Given the description of an element on the screen output the (x, y) to click on. 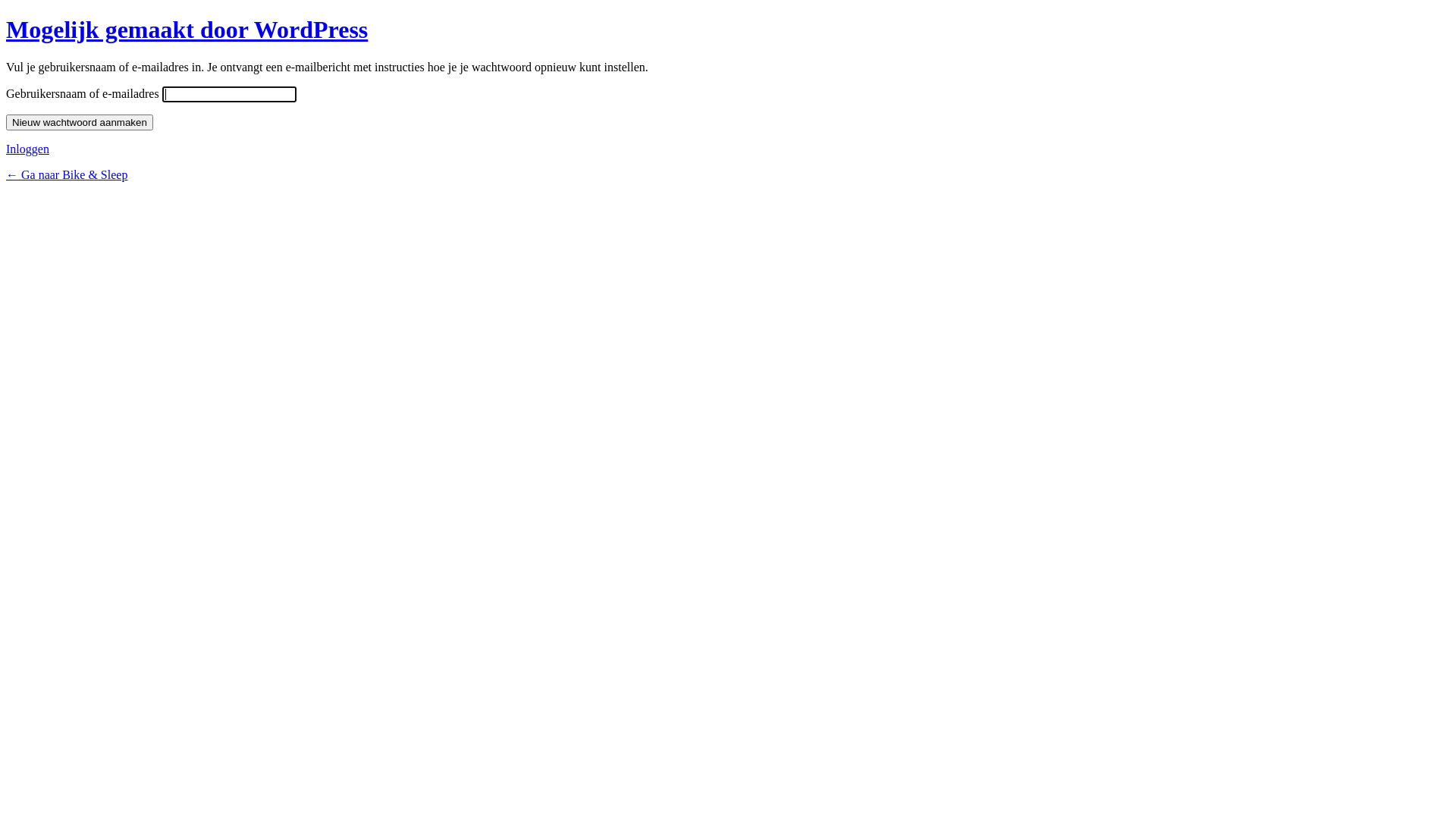
Mogelijk gemaakt door WordPress Element type: text (186, 29)
Inloggen Element type: text (27, 148)
Nieuw wachtwoord aanmaken Element type: text (79, 122)
